Given the description of an element on the screen output the (x, y) to click on. 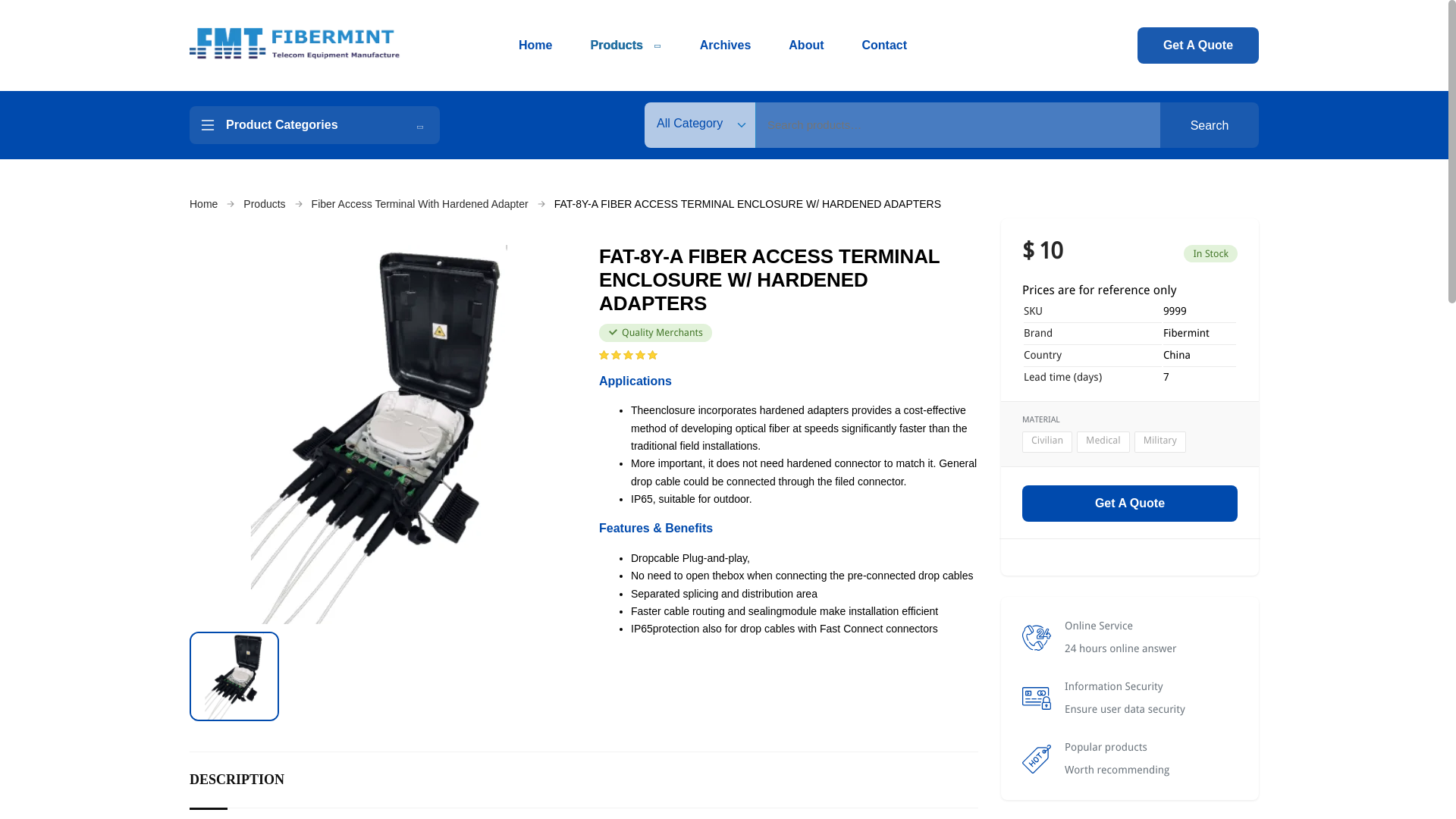
About (806, 45)
Contact (884, 45)
Get A Quote (1198, 45)
FIBERMINT (295, 45)
Products (625, 45)
Archives (725, 45)
